Given the description of an element on the screen output the (x, y) to click on. 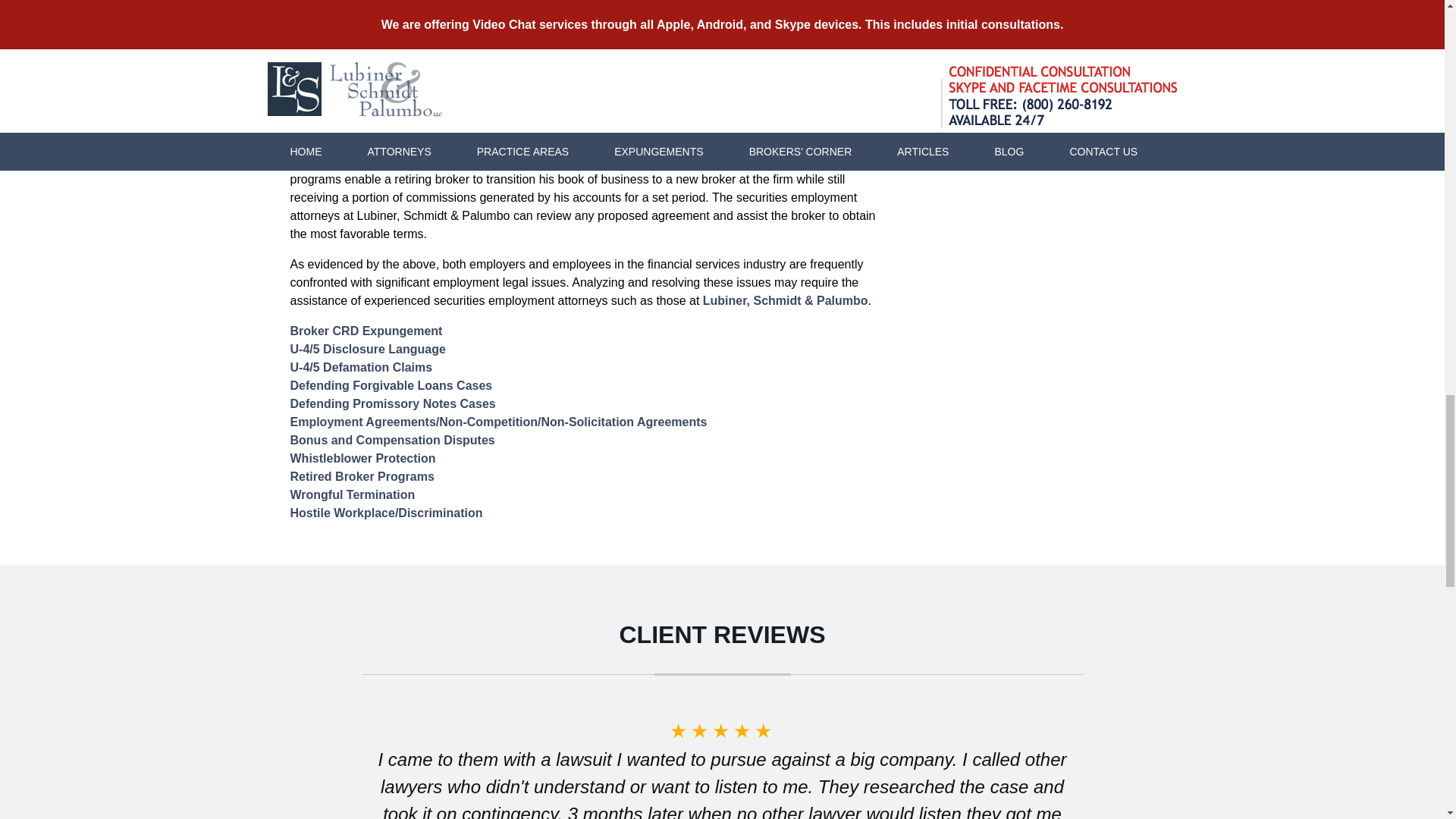
Broker CRD Expungement (365, 330)
wrongfully terminated (408, 75)
at-will (504, 39)
whistleblower (784, 57)
retired broker programs (731, 160)
